Given the description of an element on the screen output the (x, y) to click on. 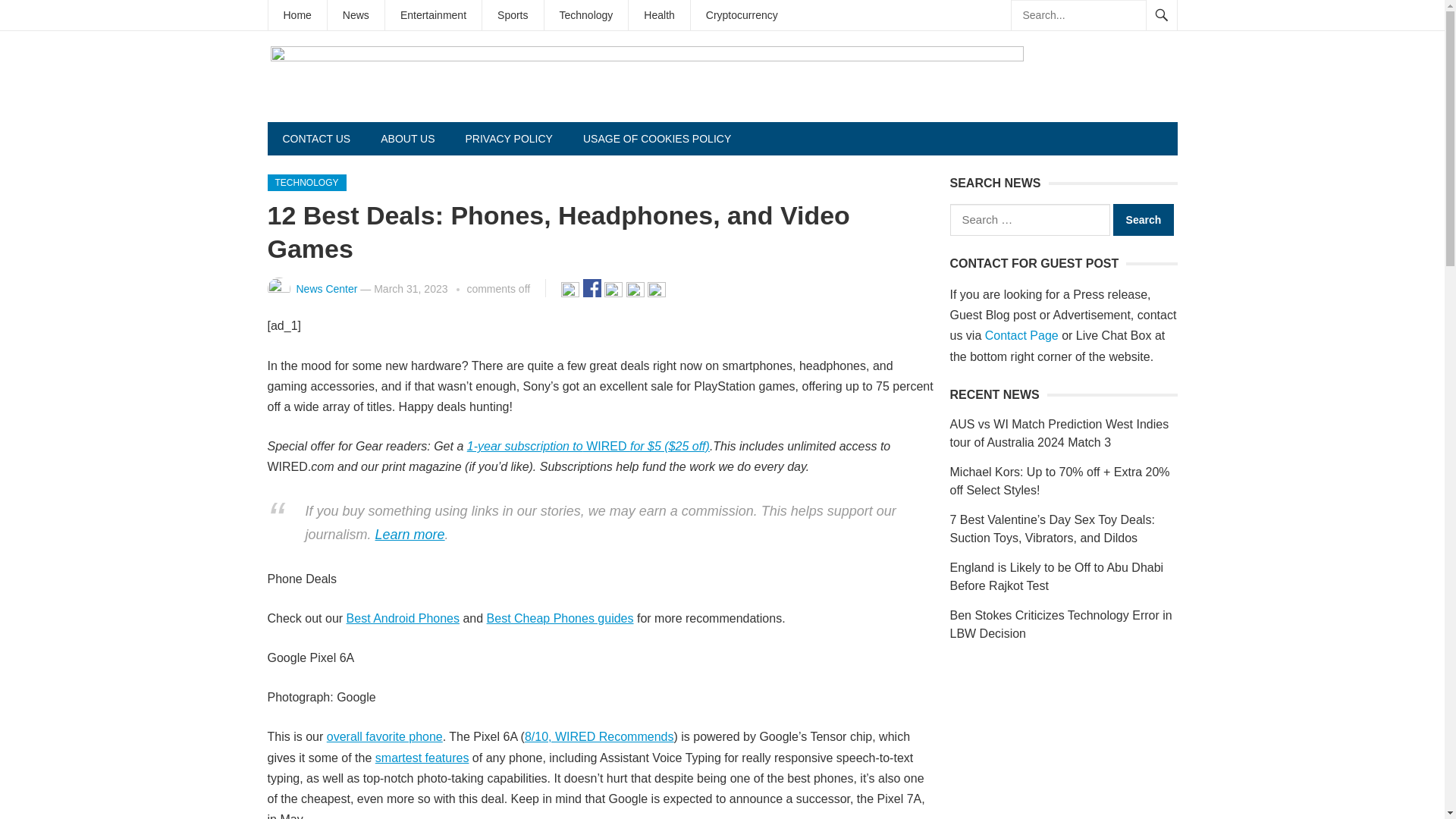
Posts by News Center (325, 288)
CONTACT US (315, 138)
TECHNOLOGY (306, 182)
View all posts in Technology (306, 182)
USAGE OF COOKIES POLICY (656, 138)
Search (1143, 219)
ABOUT US (407, 138)
Technology (586, 15)
Cryptocurrency (741, 15)
PRIVACY POLICY (508, 138)
